Given the description of an element on the screen output the (x, y) to click on. 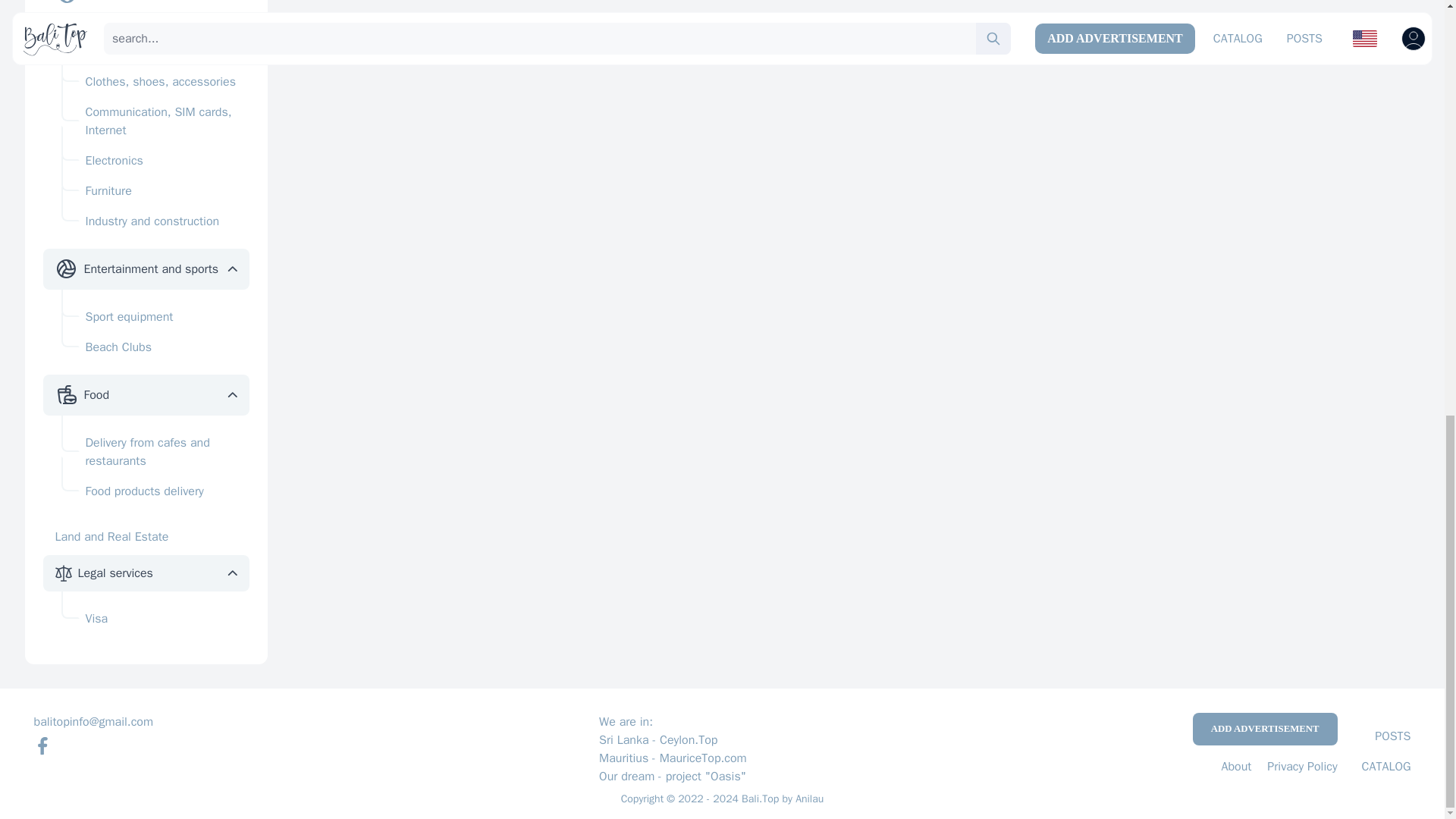
Products (105, 33)
Furniture (154, 191)
Industry and construction (154, 221)
Communication, SIM cards, Internet (154, 121)
Clothes, shoes, accessories (154, 81)
Travel, Tours, Excursions (148, 1)
Sport equipment (154, 317)
Entertainment and sports (150, 268)
Electronics (154, 160)
